Given the description of an element on the screen output the (x, y) to click on. 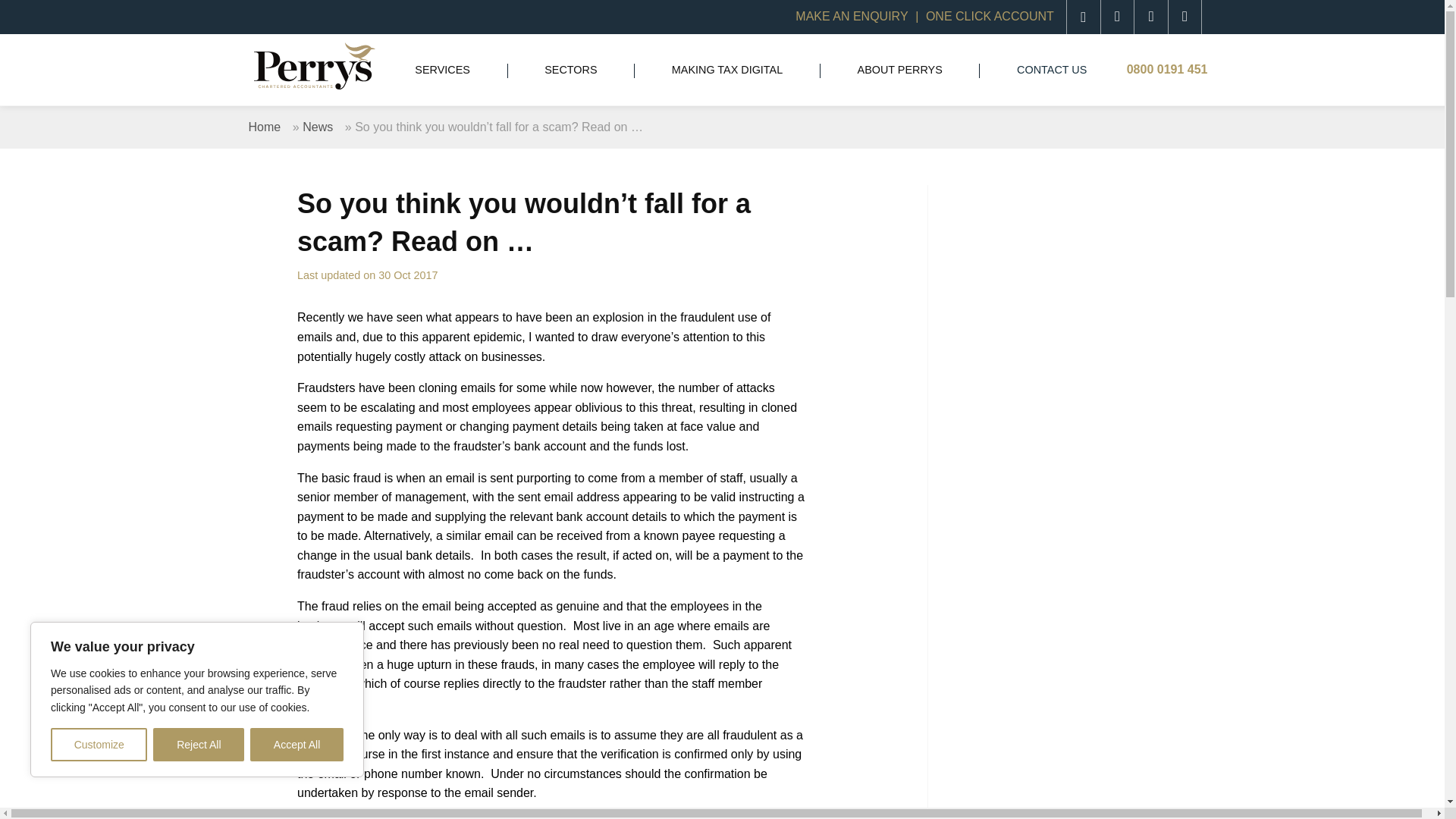
Customize (98, 744)
Perrys Chartered Accountants (314, 64)
Accept All (296, 744)
ONE CLICK ACCOUNT (981, 15)
MAKE AN ENQUIRY (850, 15)
Reject All (198, 744)
